Given the description of an element on the screen output the (x, y) to click on. 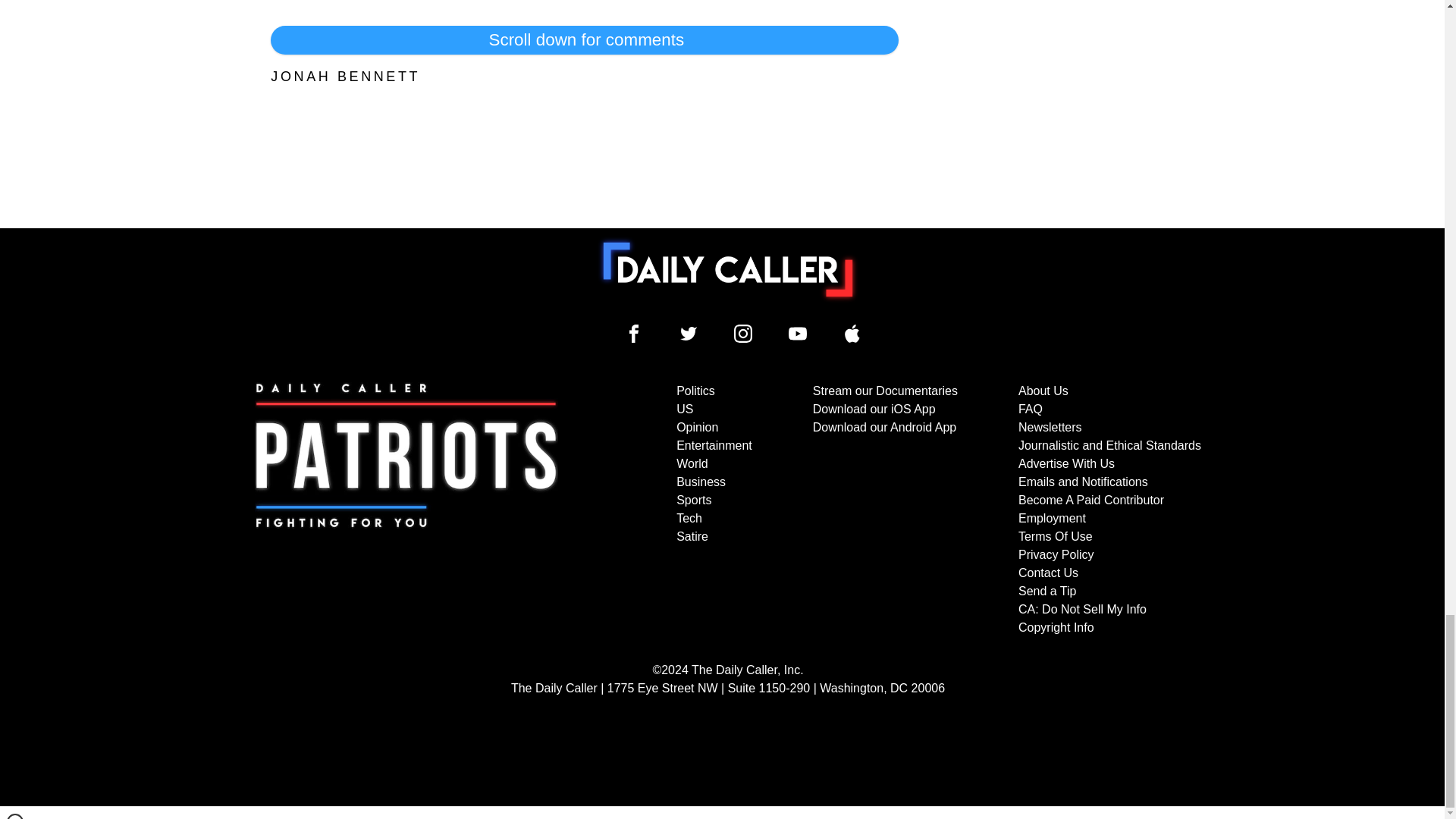
To home page (727, 269)
Scroll down for comments (584, 39)
